Given the description of an element on the screen output the (x, y) to click on. 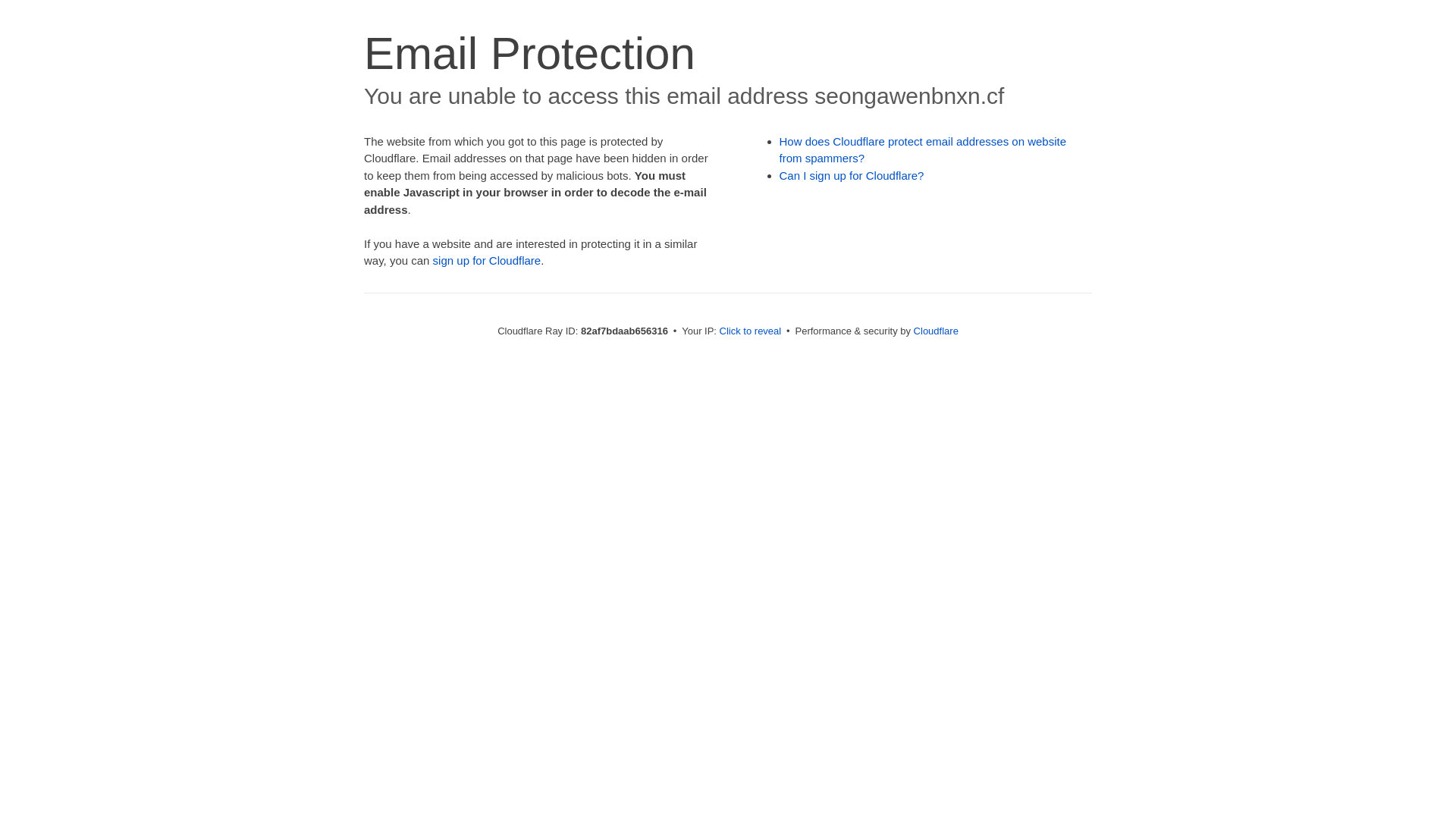
Cloudflare Element type: text (935, 330)
Click to reveal Element type: text (750, 330)
Can I sign up for Cloudflare? Element type: text (851, 175)
sign up for Cloudflare Element type: text (487, 260)
